Given the description of an element on the screen output the (x, y) to click on. 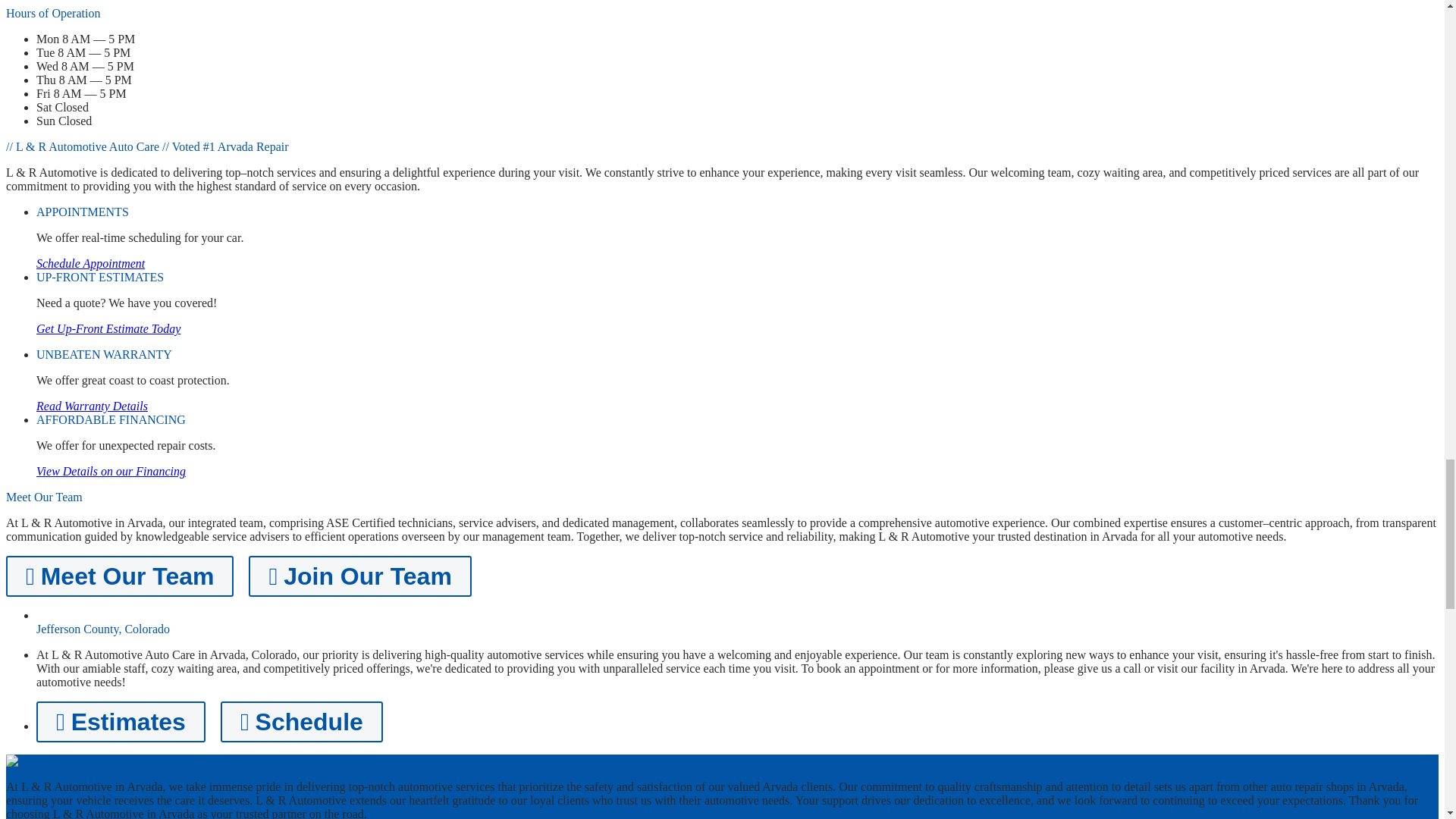
View Available Financing (111, 471)
Schedule Appointment Today (90, 263)
Get an Estimate Today (108, 328)
Read more about our great warranty plan (92, 405)
